Given the description of an element on the screen output the (x, y) to click on. 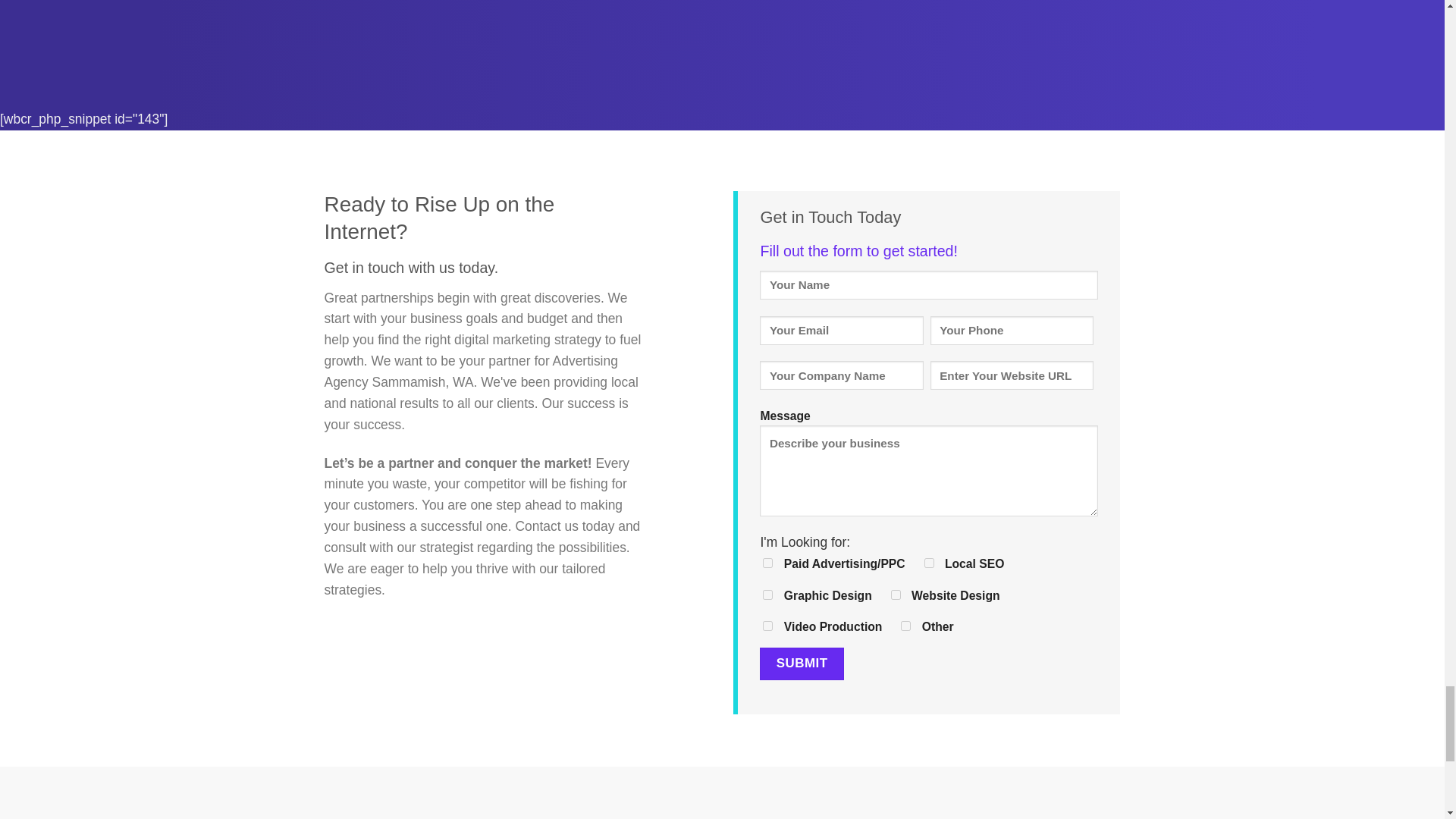
Website Design (896, 594)
Video Production (767, 625)
Graphic Design (767, 594)
Other (906, 625)
Local SEO (929, 562)
Submit (801, 663)
